Given the description of an element on the screen output the (x, y) to click on. 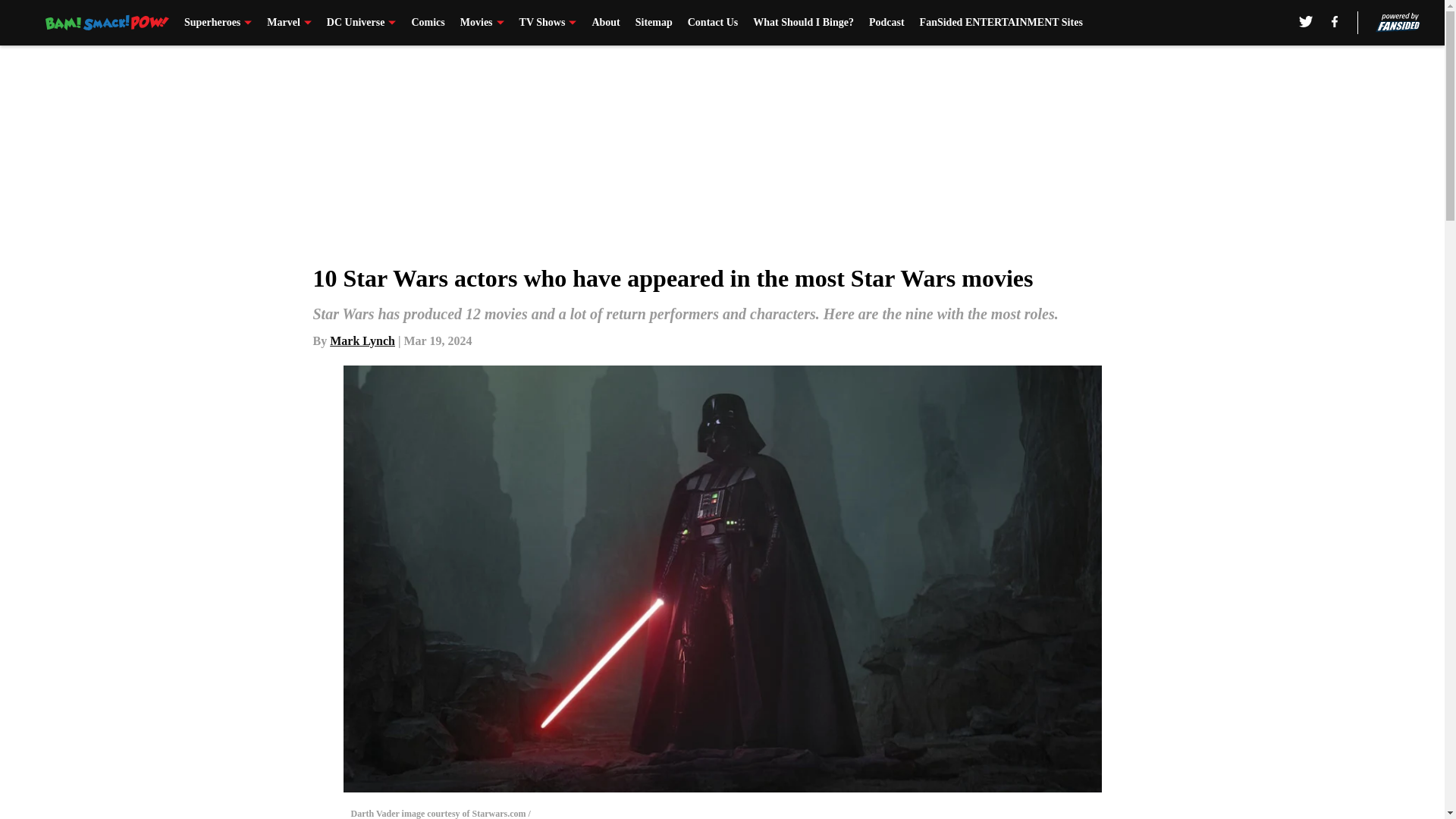
Comics (427, 22)
What Should I Binge? (802, 22)
About (605, 22)
Mark Lynch (362, 340)
Movies (481, 22)
Podcast (886, 22)
FanSided ENTERTAINMENT Sites (1001, 22)
Sitemap (653, 22)
Contact Us (712, 22)
